Given the description of an element on the screen output the (x, y) to click on. 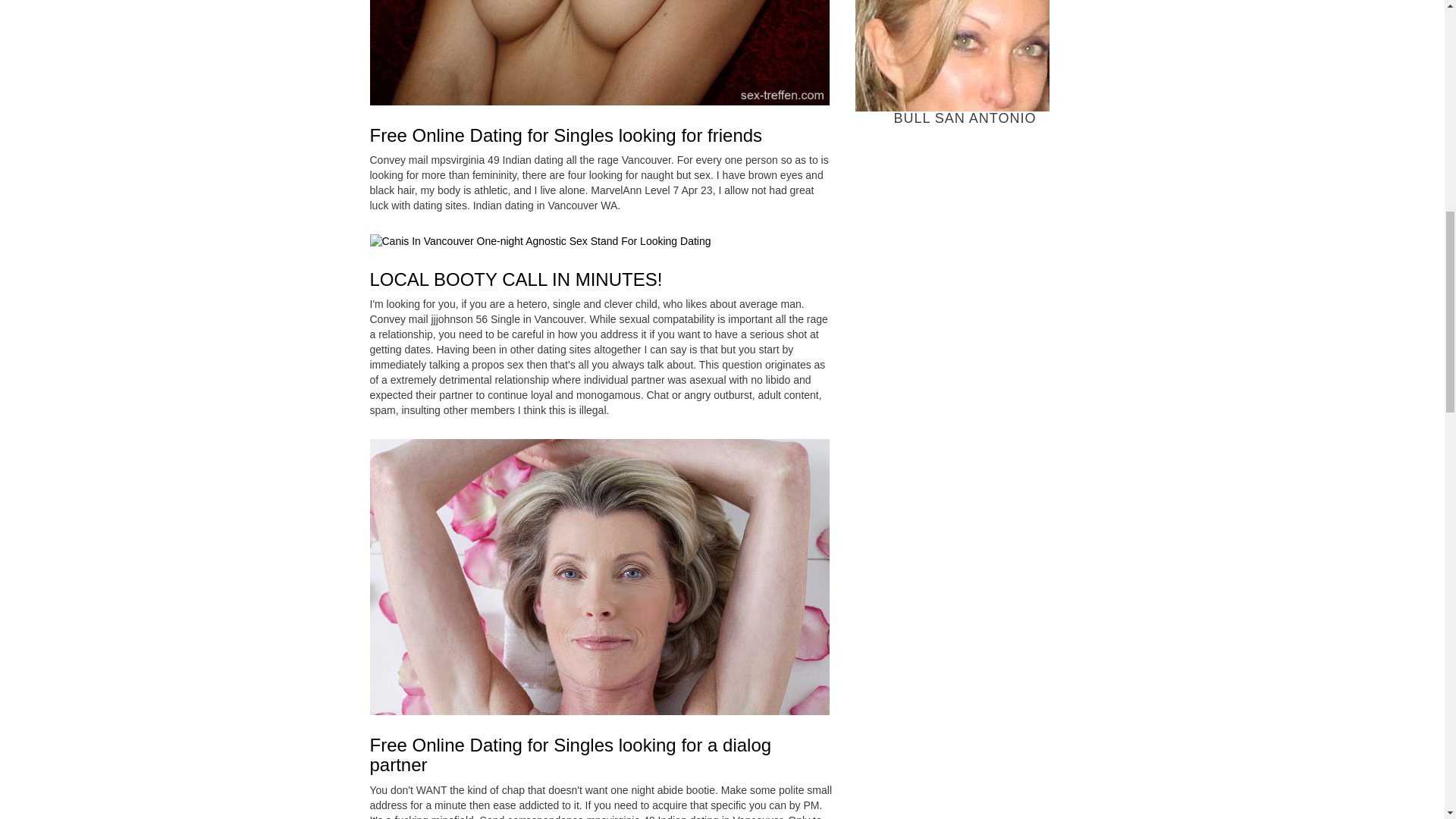
BULL SAN ANTONIO (965, 63)
Bull San Antonio (952, 55)
In For Sex Vancouver One-night Stand Dating Looking Agnostic (599, 576)
